Given the description of an element on the screen output the (x, y) to click on. 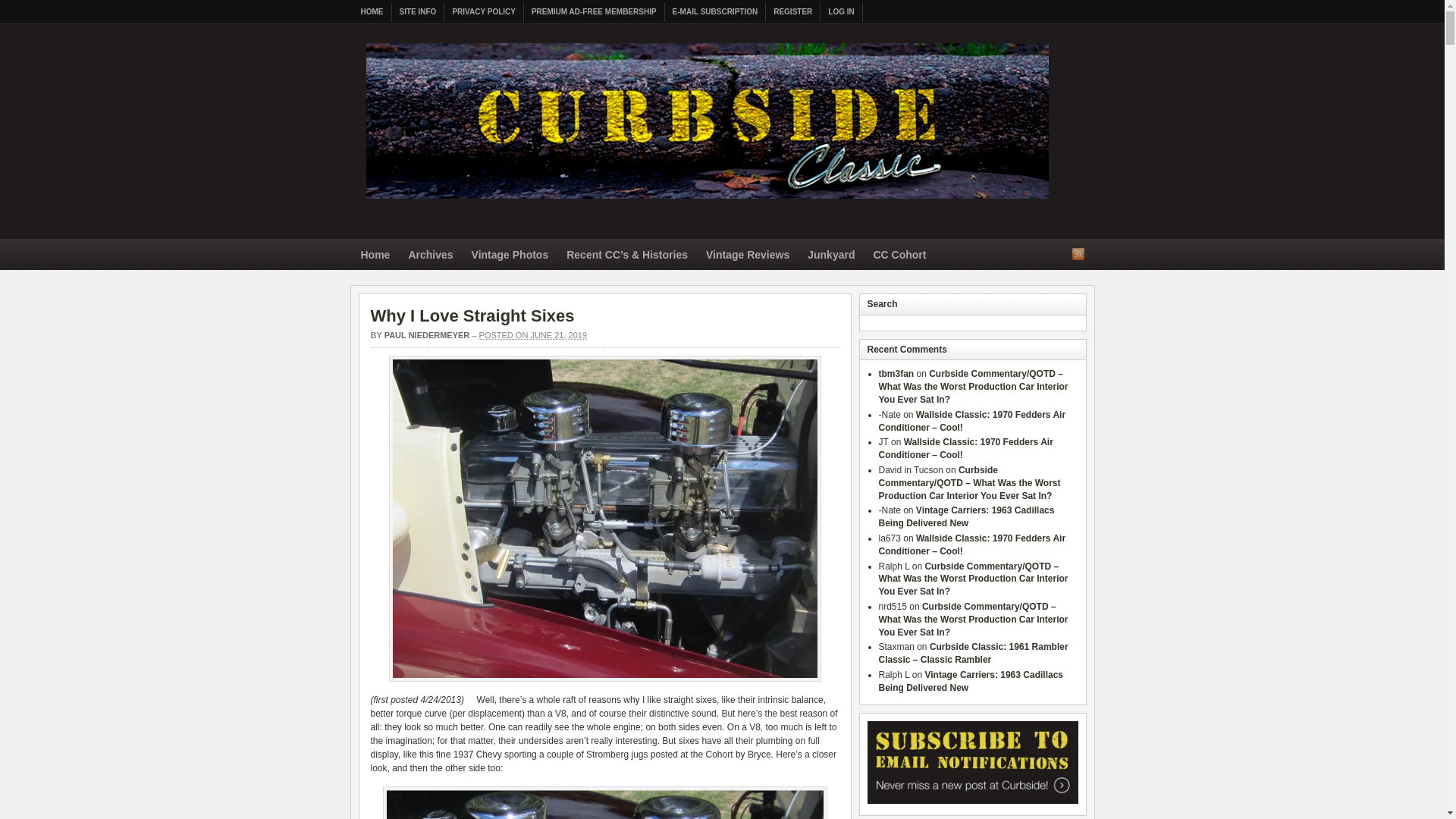
Curbside Classic RSS Feed (1078, 253)
Paul Niedermeyer (427, 334)
PRIVACY POLICY (484, 12)
PREMIUM AD-FREE MEMBERSHIP (594, 12)
2019-06-21T12:00:25-07:00 (532, 334)
Vintage Photos (510, 256)
REGISTER (793, 12)
Archives (429, 256)
HOME (372, 12)
E-MAIL SUBSCRIPTION (716, 12)
